Given the description of an element on the screen output the (x, y) to click on. 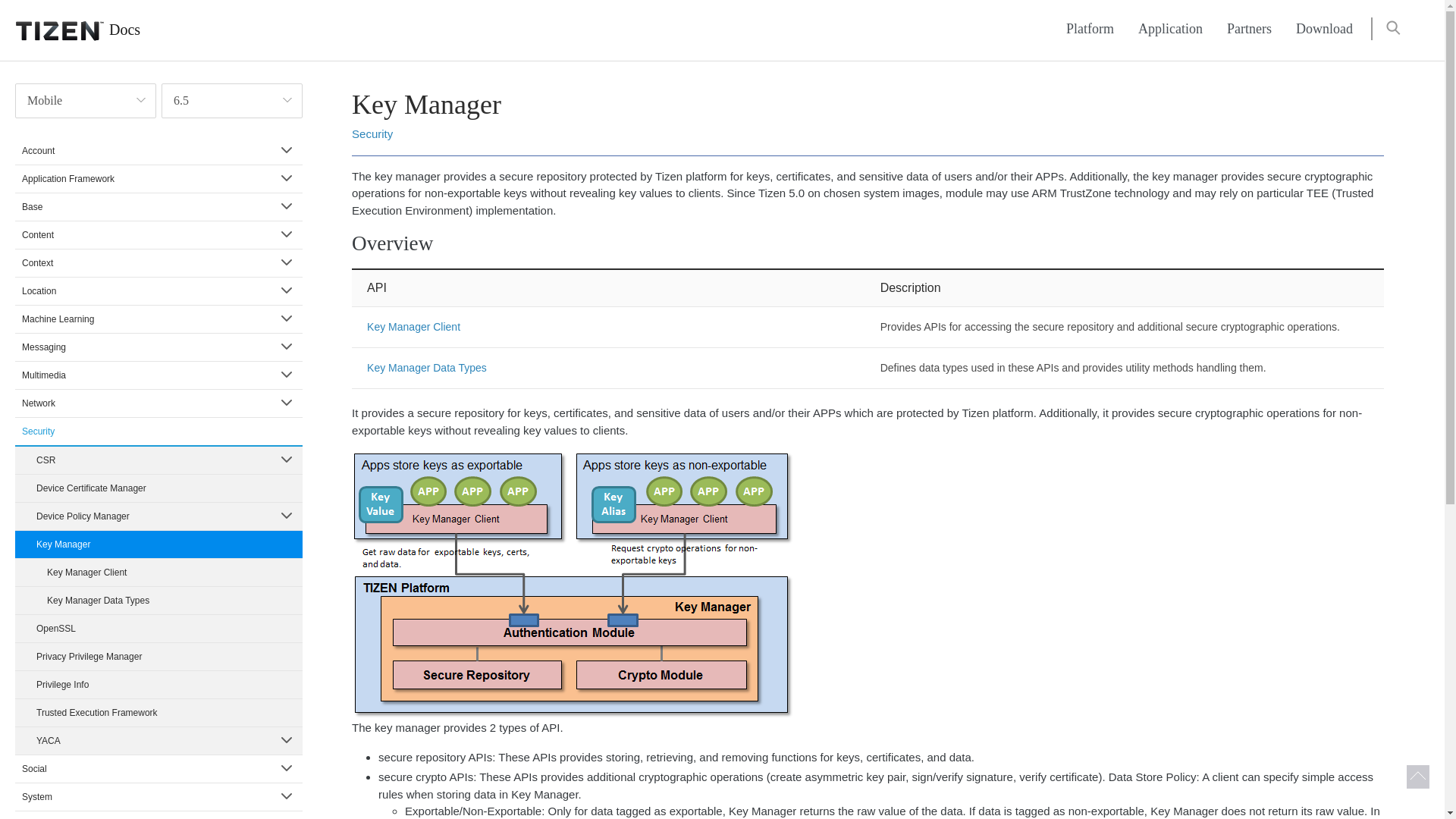
Platform (1089, 29)
Docs (69, 30)
Download (1324, 29)
Application (1169, 29)
Partners (1249, 29)
